Given the description of an element on the screen output the (x, y) to click on. 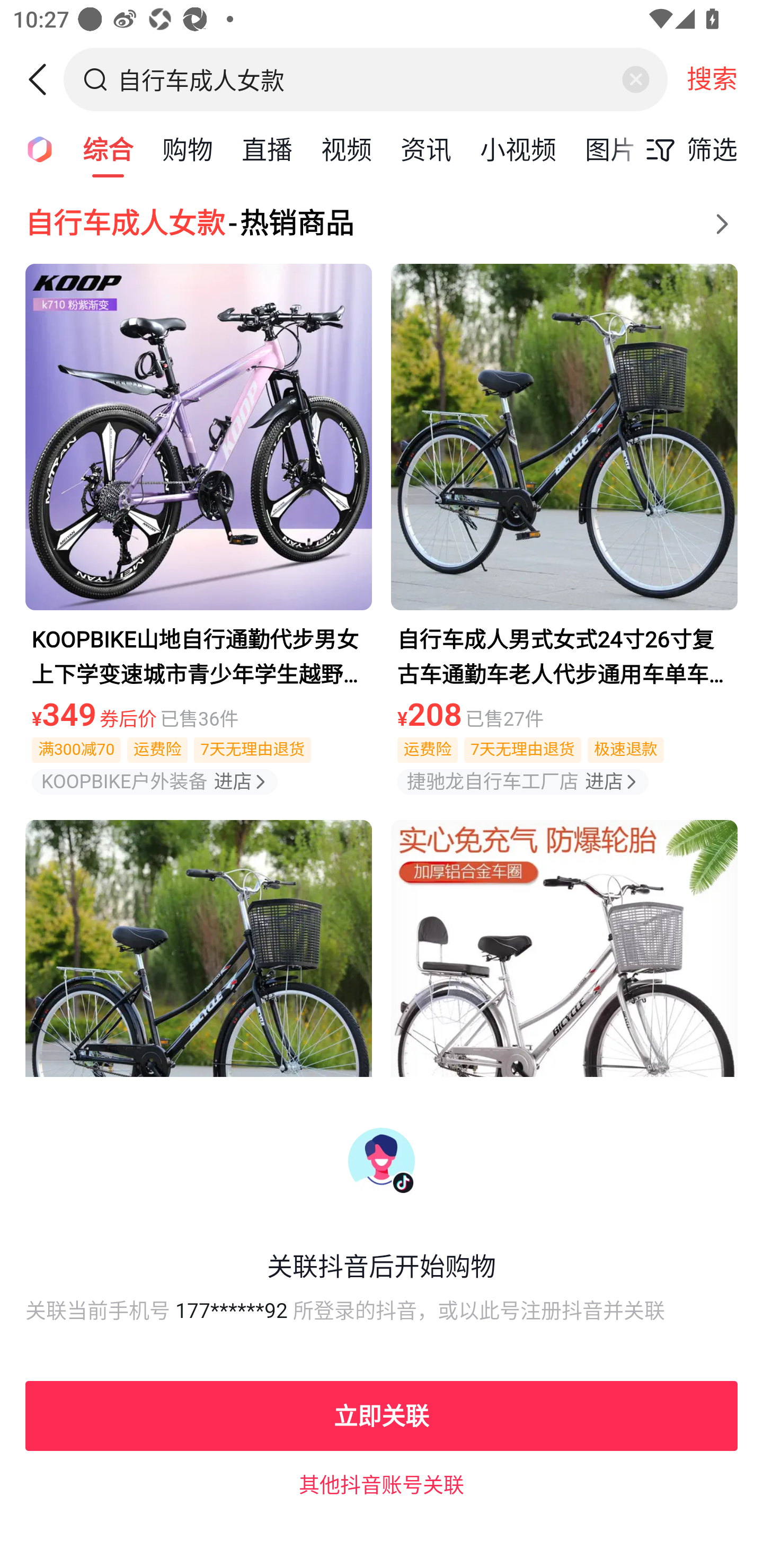
立即关联 (381, 1415)
其他抖音账号关联 (381, 1483)
